Given the description of an element on the screen output the (x, y) to click on. 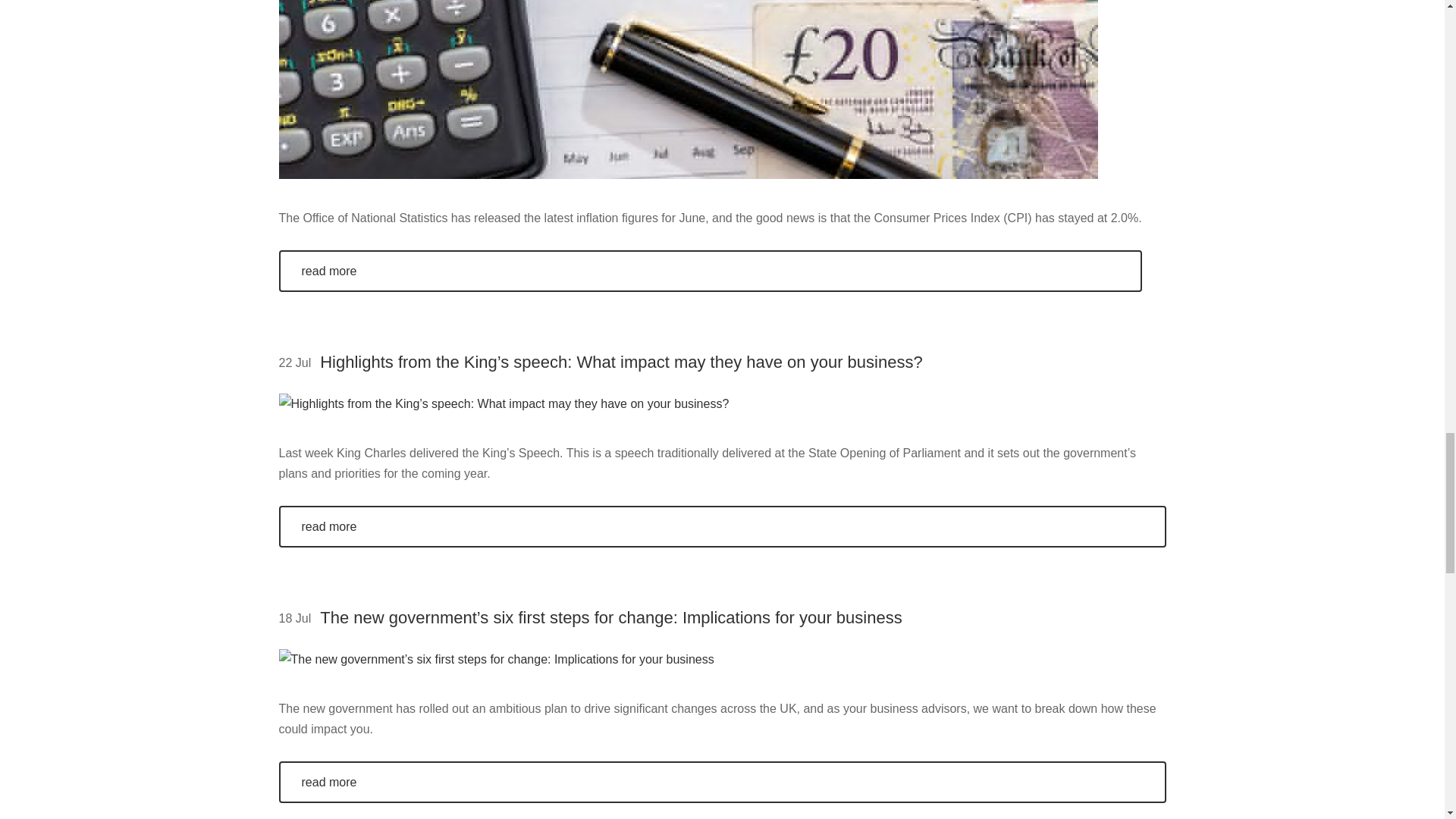
read more (722, 782)
read more (710, 270)
read more (722, 526)
